Given the description of an element on the screen output the (x, y) to click on. 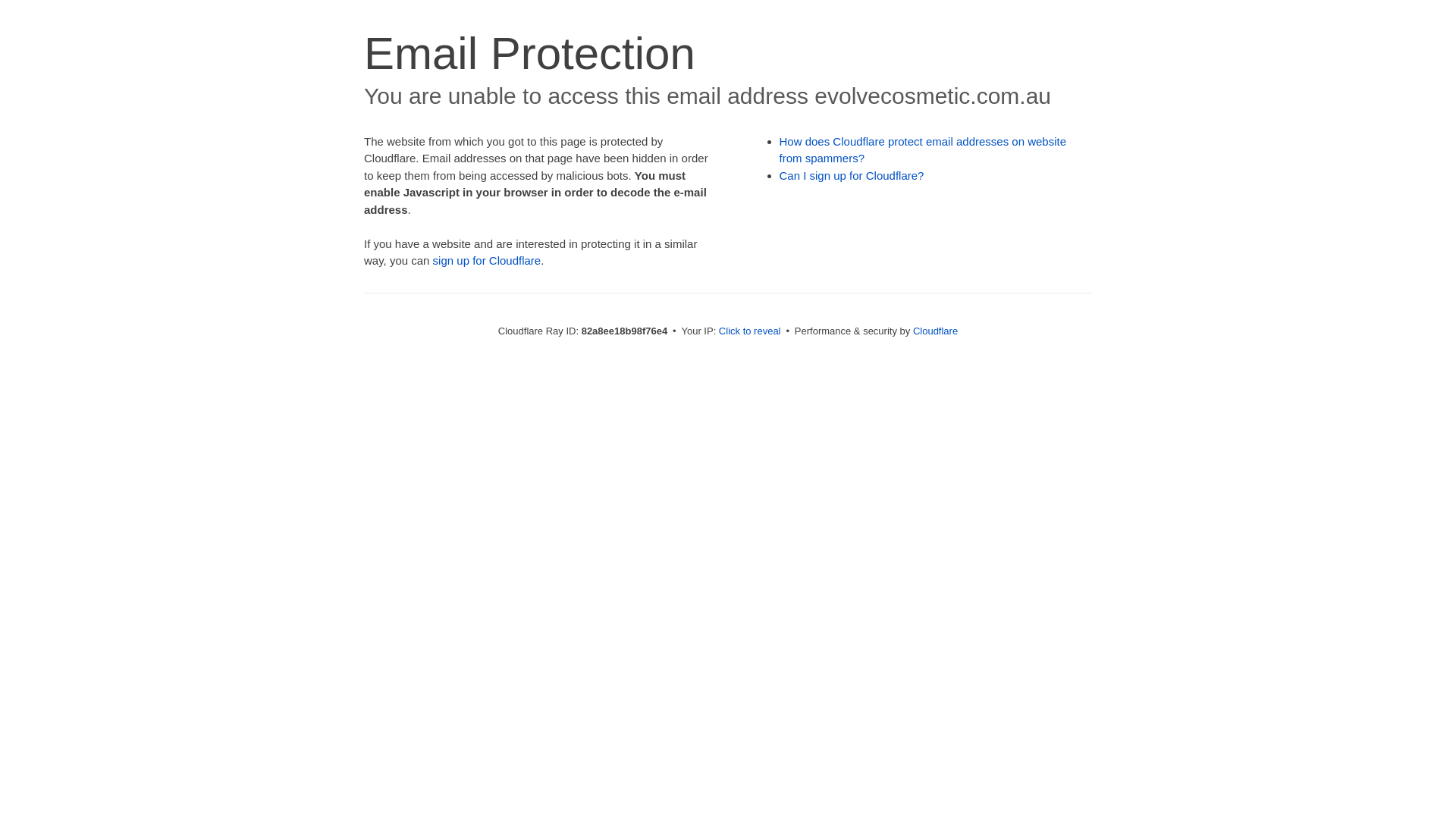
Cloudflare Element type: text (935, 330)
Click to reveal Element type: text (749, 330)
Can I sign up for Cloudflare? Element type: text (851, 175)
sign up for Cloudflare Element type: text (487, 260)
